Given the description of an element on the screen output the (x, y) to click on. 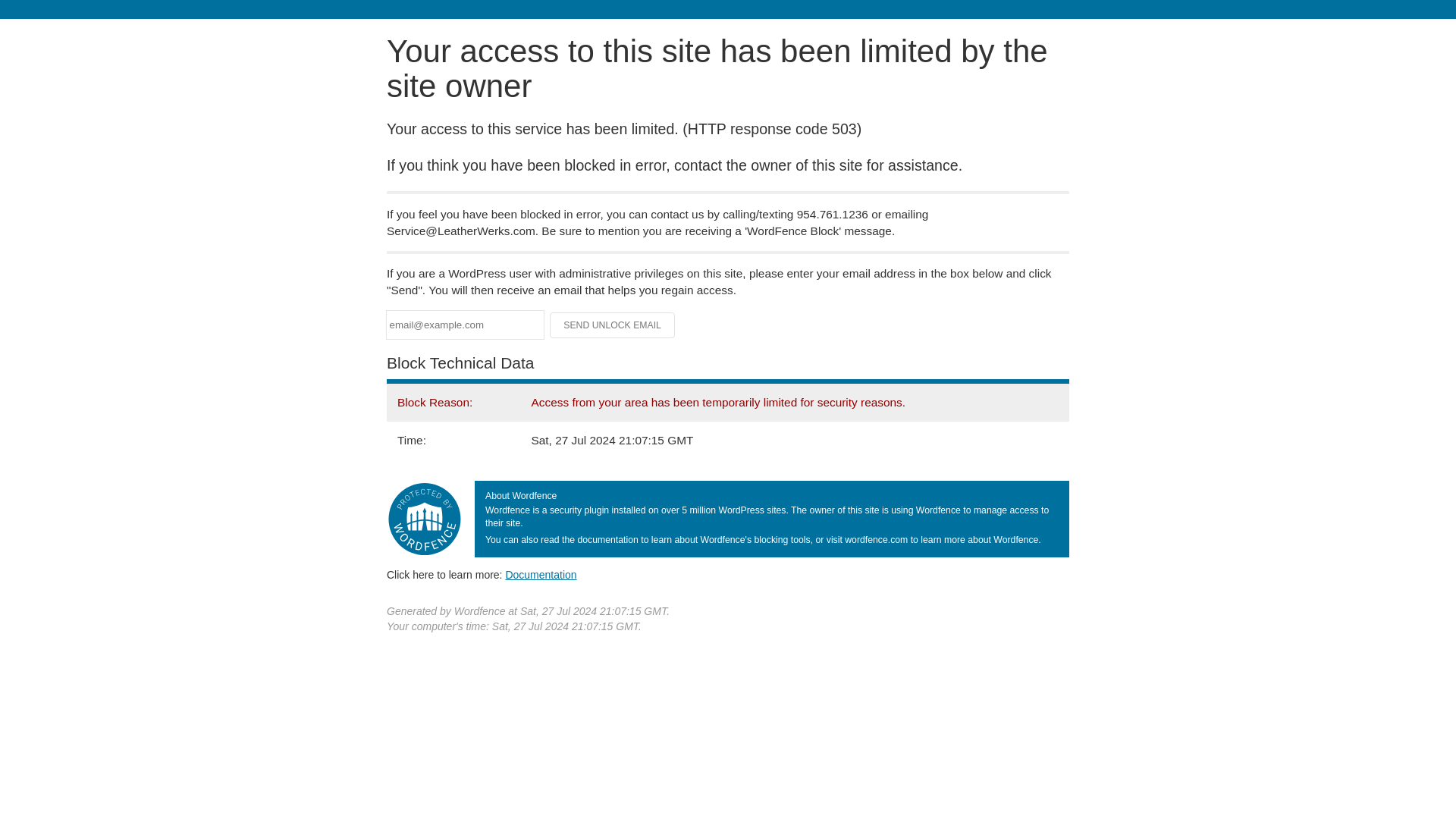
Documentation (540, 574)
Send Unlock Email (612, 325)
Send Unlock Email (612, 325)
